Given the description of an element on the screen output the (x, y) to click on. 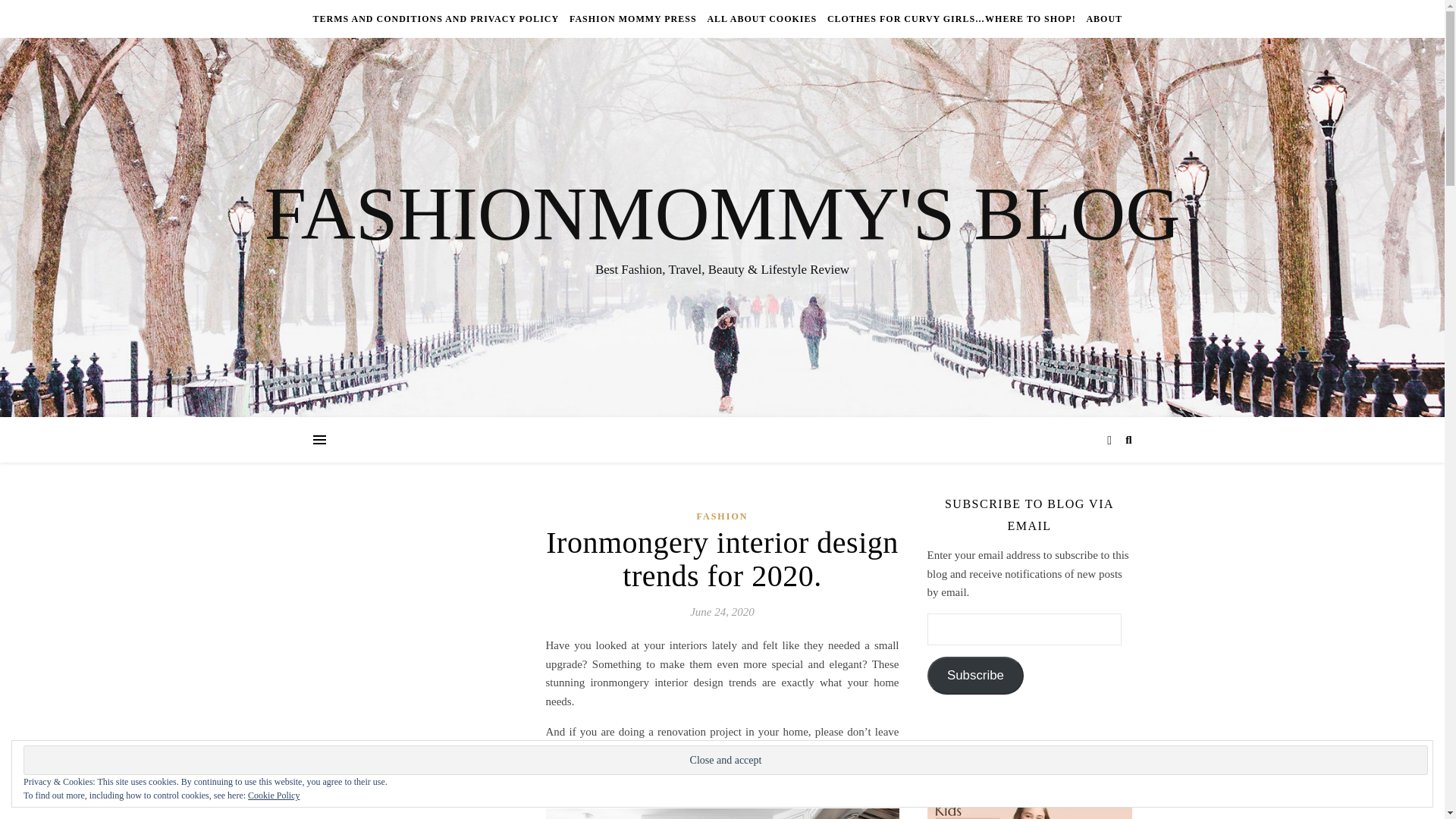
ABOUT (1101, 18)
FASHION MOMMY PRESS (633, 18)
FASHION (722, 516)
TERMS AND CONDITIONS AND PRIVACY POLICY (437, 18)
ALL ABOUT COOKIES (762, 18)
Close and accept (725, 759)
